Given the description of an element on the screen output the (x, y) to click on. 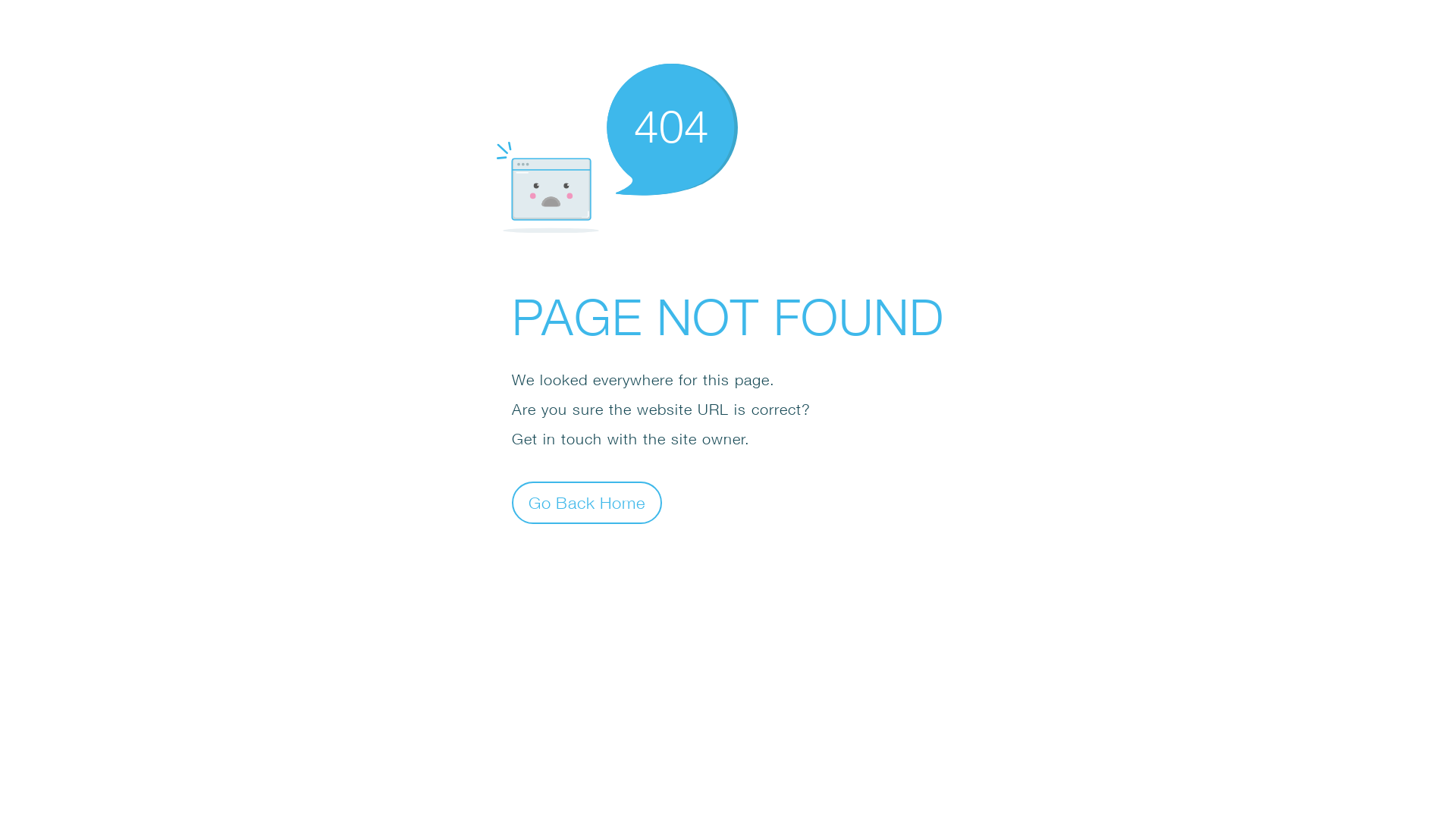
Go Back Home Element type: text (586, 502)
